Given the description of an element on the screen output the (x, y) to click on. 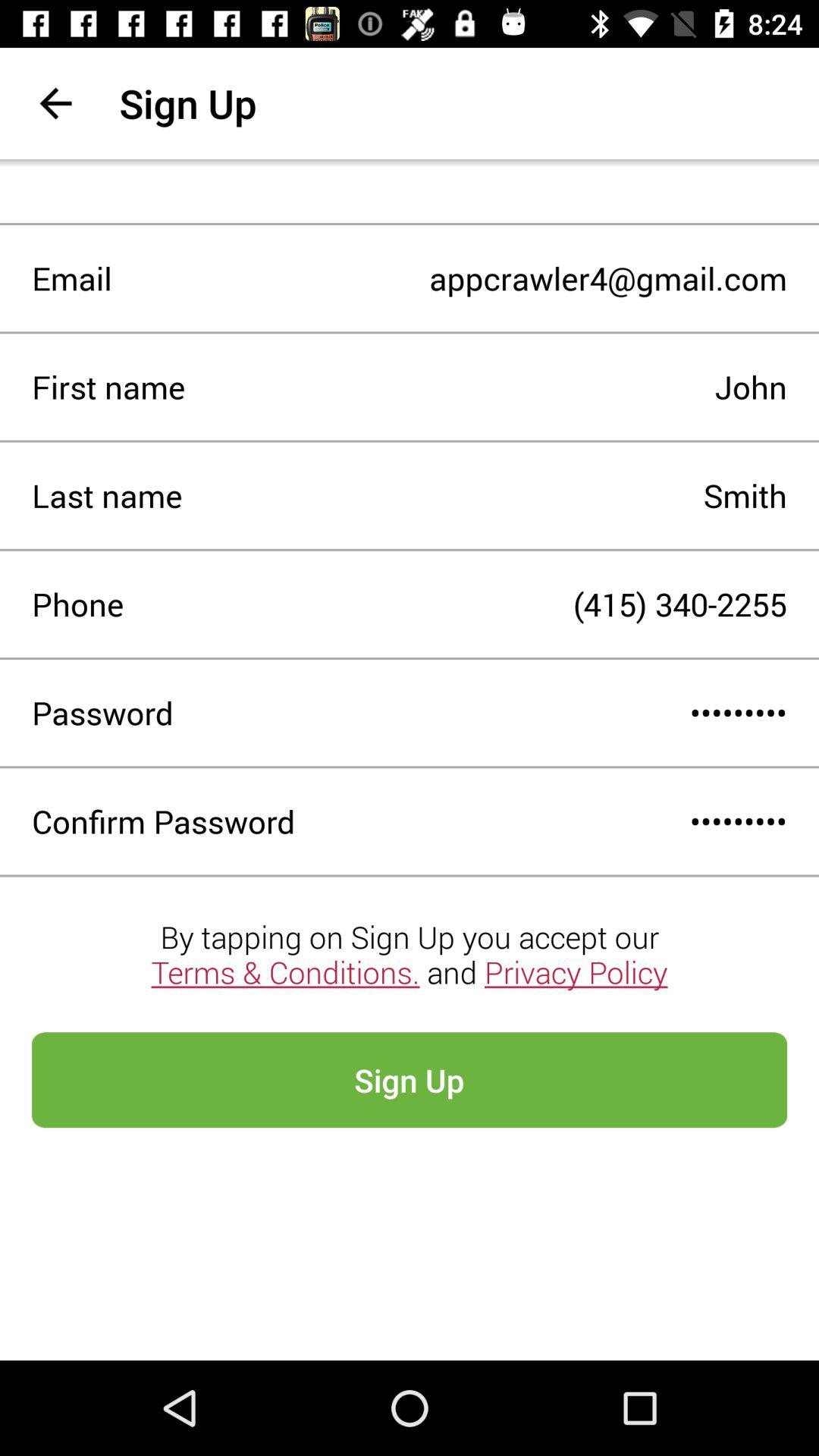
choose smith item (484, 495)
